Given the description of an element on the screen output the (x, y) to click on. 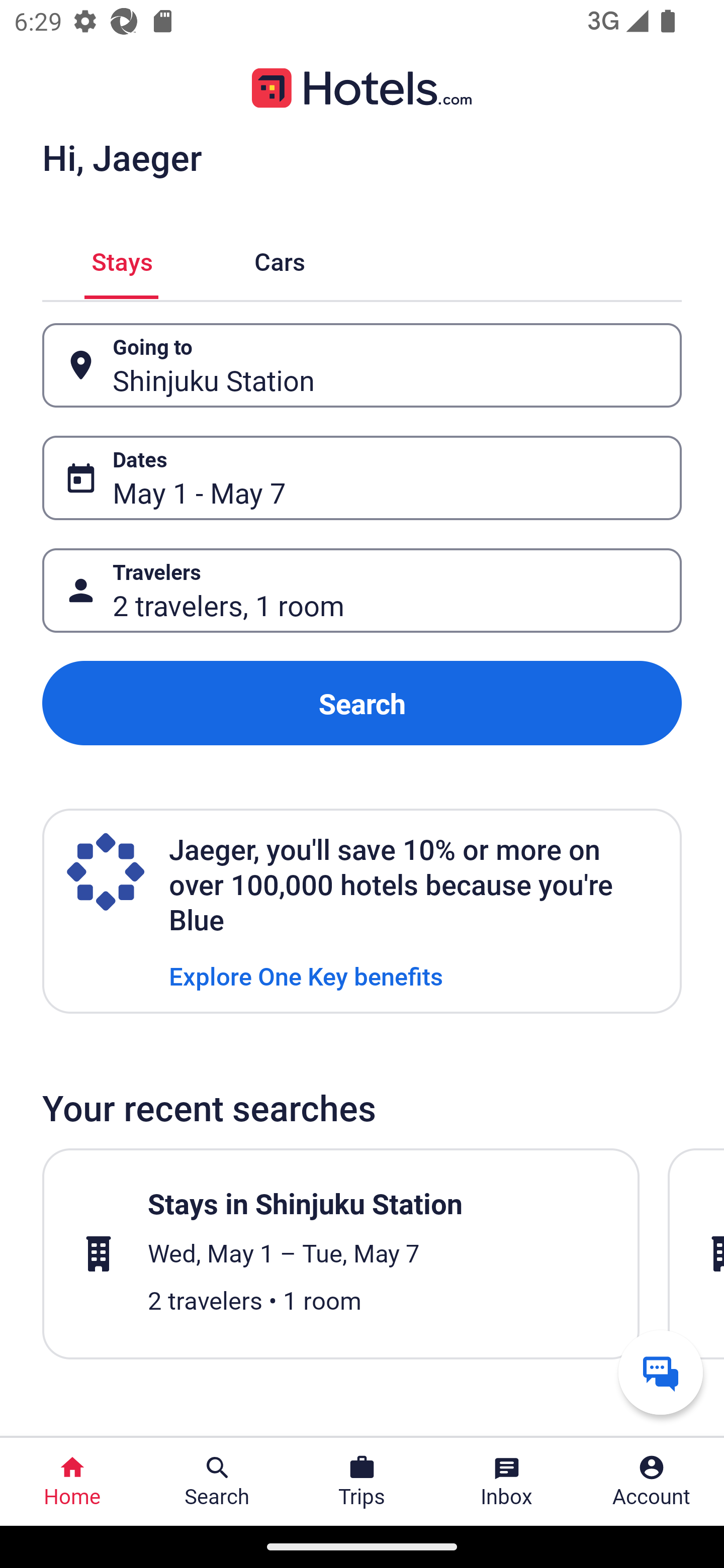
Hi, Jaeger (121, 156)
Cars (279, 259)
Going to Button Shinjuku Station (361, 365)
Dates Button May 1 - May 7 (361, 477)
Travelers Button 2 travelers, 1 room (361, 590)
Search (361, 702)
Get help from a virtual agent (660, 1371)
Search Search Button (216, 1481)
Trips Trips Button (361, 1481)
Inbox Inbox Button (506, 1481)
Account Profile. Button (651, 1481)
